Given the description of an element on the screen output the (x, y) to click on. 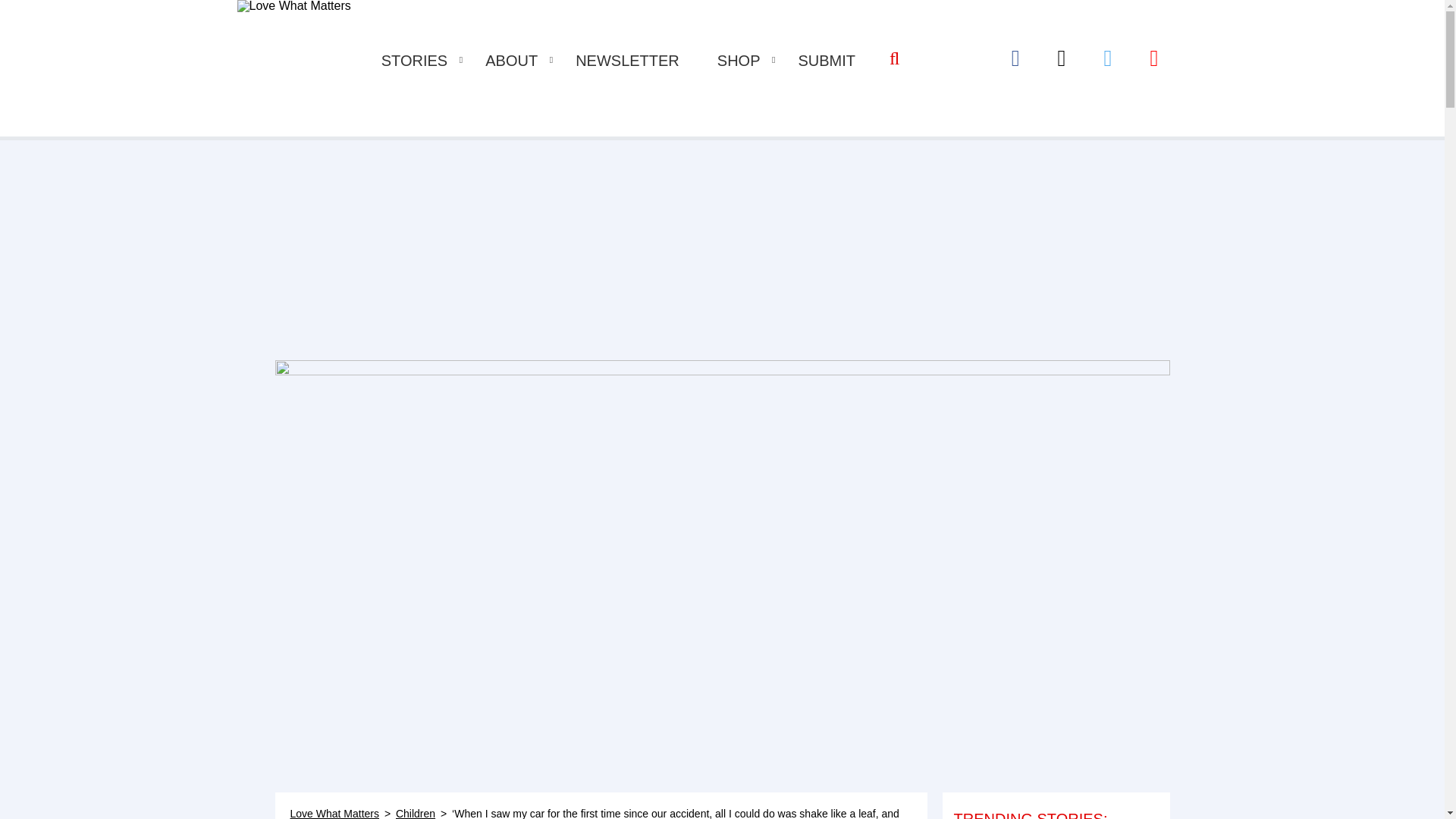
SHOP (738, 60)
SUBMIT (826, 60)
NEWSLETTER (627, 60)
STORIES (414, 60)
ABOUT (511, 60)
